Given the description of an element on the screen output the (x, y) to click on. 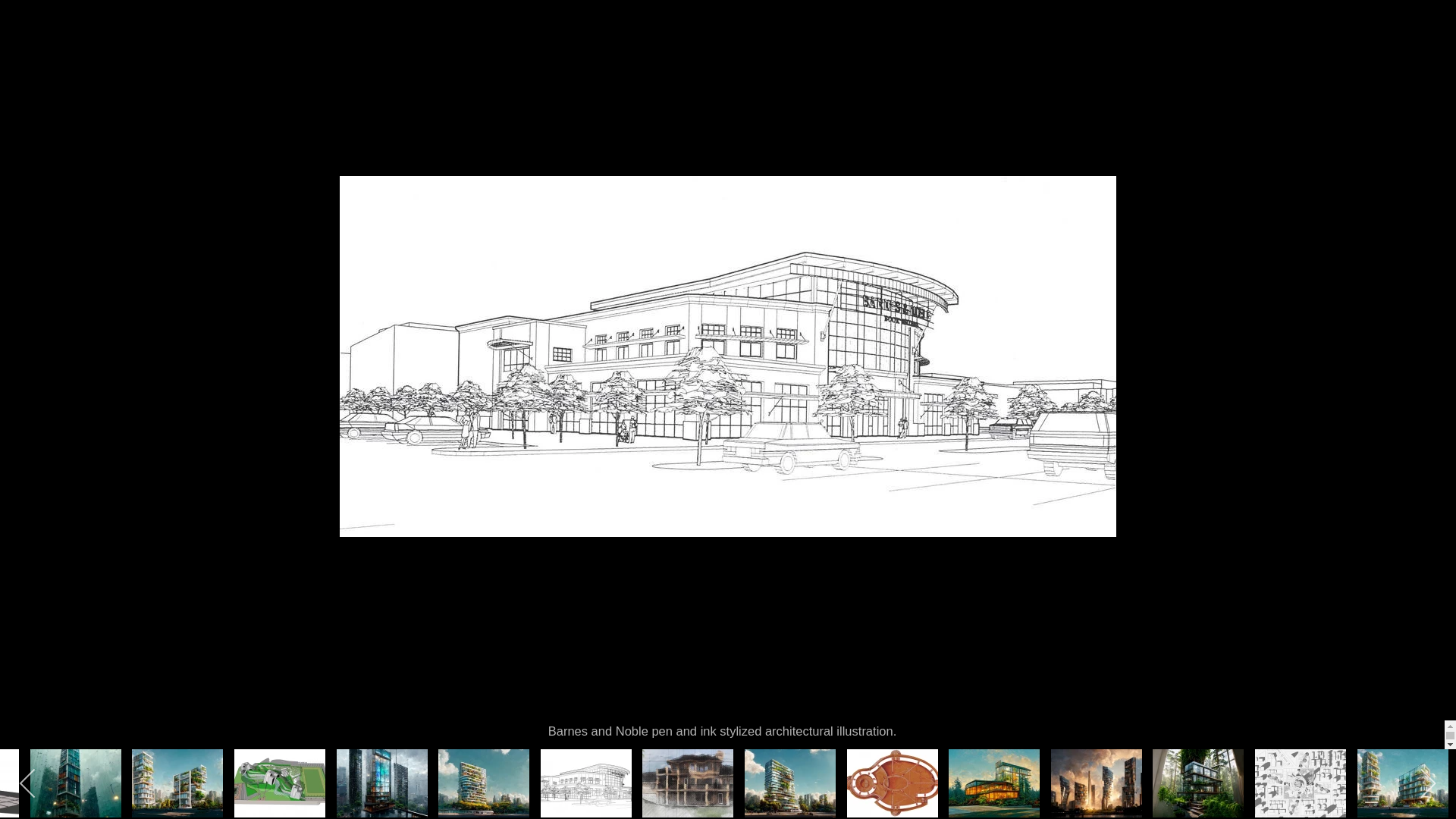
Architectural Illustration Element type: hover (722, 280)
About Element type: text (909, 53)
Architectural Illustration Element type: hover (993, 783)
Architectural Illustration Element type: hover (483, 783)
Portfolio Element type: text (1147, 53)
Architectural Illustration Element type: hover (75, 783)
Architectural Illustration Element type: hover (590, 280)
Architectural Illustration Element type: hover (1115, 411)
Ok Element type: text (955, 777)
Architectural Illustration Element type: hover (1402, 783)
Architectural Illustration Element type: hover (687, 783)
Architectural Illustration Element type: hover (789, 783)
Architectural Illustration Element type: hover (1115, 543)
Architectural Illustration Element type: hover (1096, 783)
Architectural Illustration Element type: hover (381, 783)
Architectural Illustration Element type: hover (853, 674)
Architectural Illustration Element type: hover (525, 477)
Architectural Illustration Element type: hover (1115, 280)
Architectural Illustration Element type: hover (787, 543)
Illustration Element type: hover (984, 280)
Architectural Illustration Element type: hover (525, 674)
Blog Element type: text (1214, 53)
Architectural Illustration Element type: hover (328, 280)
Services Element type: text (1071, 53)
Architectural Illustration Element type: hover (585, 783)
+1 (206) 660-4723 Element type: text (1317, 52)
Architectural Illustration Element type: hover (328, 674)
Architectural Illustration Element type: hover (722, 674)
Architectural Illustration Element type: hover (984, 411)
Architectural Illustration Element type: hover (1300, 783)
Architectural Illustration Element type: hover (328, 411)
Architectural Illustration Element type: hover (328, 543)
Architectural Illustration Element type: hover (722, 411)
Architectural Illustration Element type: hover (1115, 674)
Architectural Illustration Element type: hover (459, 280)
Architectural Illustration Element type: hover (984, 608)
Architectural Illustration Element type: hover (1197, 783)
Contact Us Element type: text (987, 53)
Architectural Illustration Element type: hover (853, 346)
Architectural Illustration Element type: hover (279, 783)
Architectural Illustration Element type: hover (176, 783)
Home Element type: text (846, 53)
Architectural Illustration Element type: hover (892, 783)
